Given the description of an element on the screen output the (x, y) to click on. 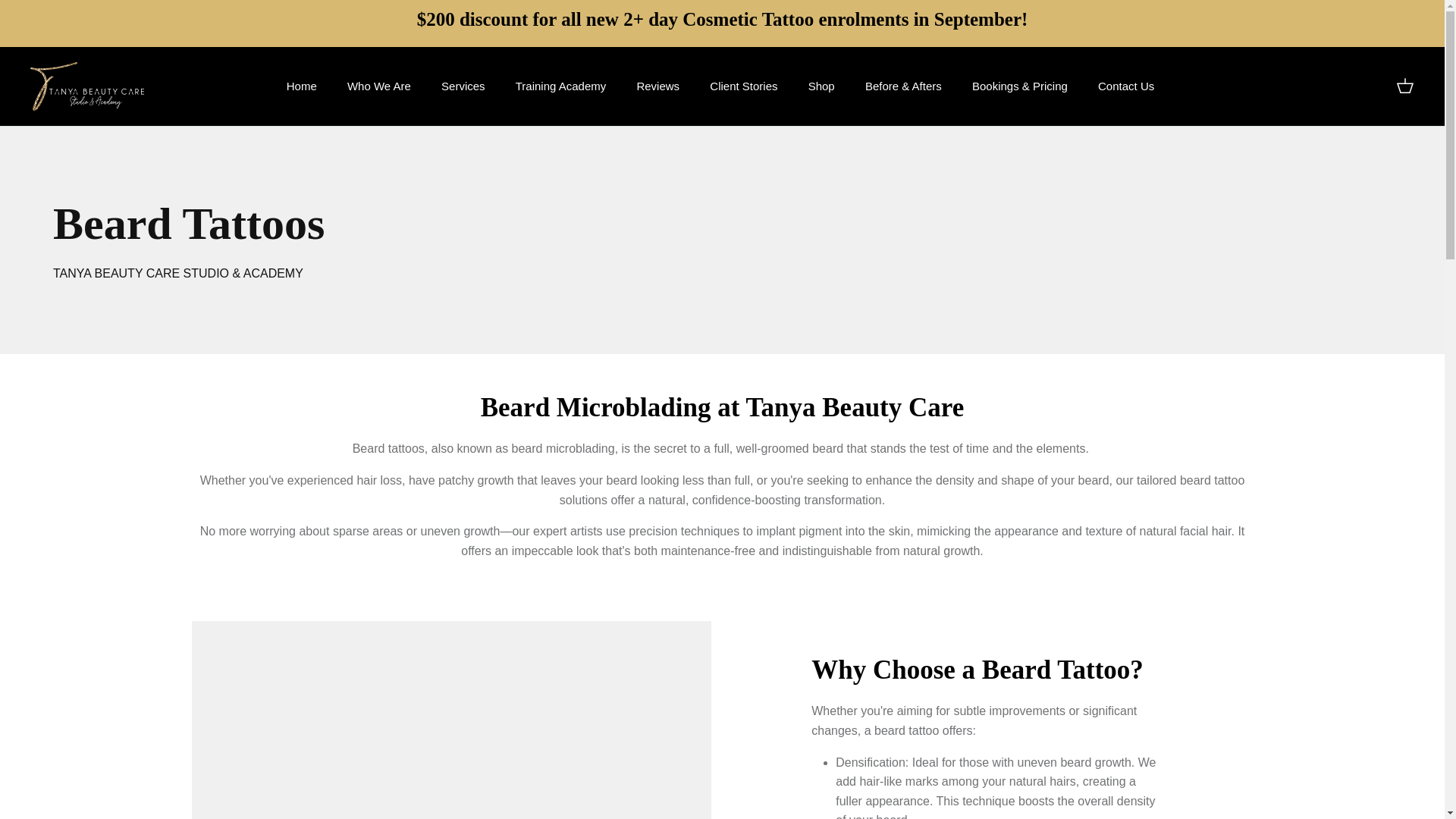
Services (463, 86)
Client Stories (742, 86)
Cart (1404, 86)
Training Academy (561, 86)
Reviews (658, 86)
Home (301, 86)
Who We Are (379, 86)
Tanya Beauty Care (87, 86)
Contact Us (1125, 86)
Shop (821, 86)
